Given the description of an element on the screen output the (x, y) to click on. 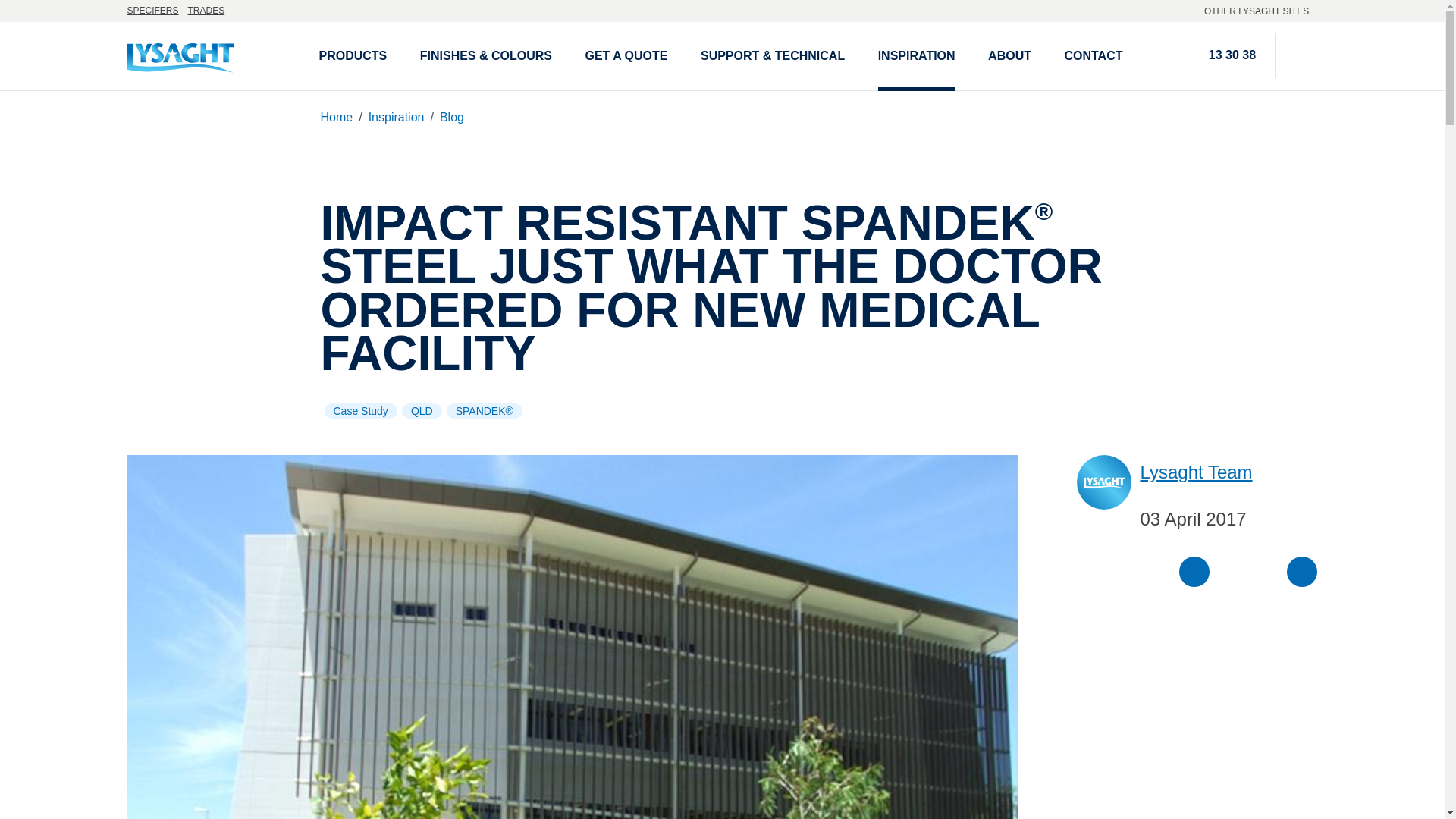
Expand menu About (1009, 55)
View user profile. (1196, 469)
OTHER LYSAGHT SITES (1260, 10)
Lysaght home (210, 55)
GET A QUOTE (625, 55)
Expand menu Contact (1093, 55)
PRODUCTS (352, 55)
Expand menu Products (352, 55)
SPECIFERS (153, 10)
TRADES (206, 10)
Expand menu Get a Quote (625, 55)
Expand menu Inspiration (916, 55)
Lysaght home (210, 55)
